Given the description of an element on the screen output the (x, y) to click on. 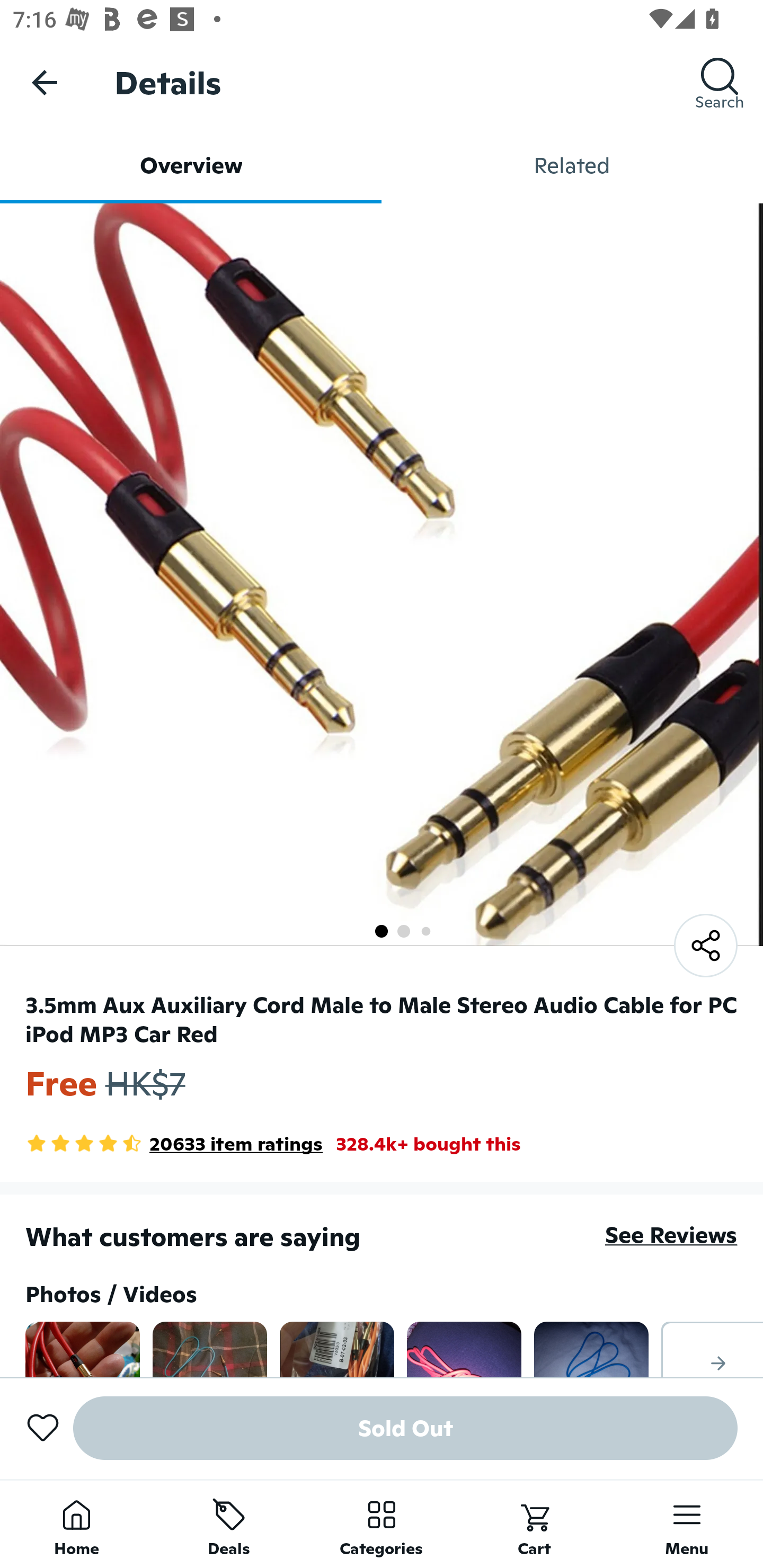
Navigate up (44, 82)
Search (719, 82)
Related (572, 165)
4.3 Star Rating 20633 item ratings (174, 1143)
See Reviews (671, 1234)
Right arrow (712, 1348)
Sold Out (405, 1428)
Home (76, 1523)
Deals (228, 1523)
Categories (381, 1523)
Cart (533, 1523)
Menu (686, 1523)
